Given the description of an element on the screen output the (x, y) to click on. 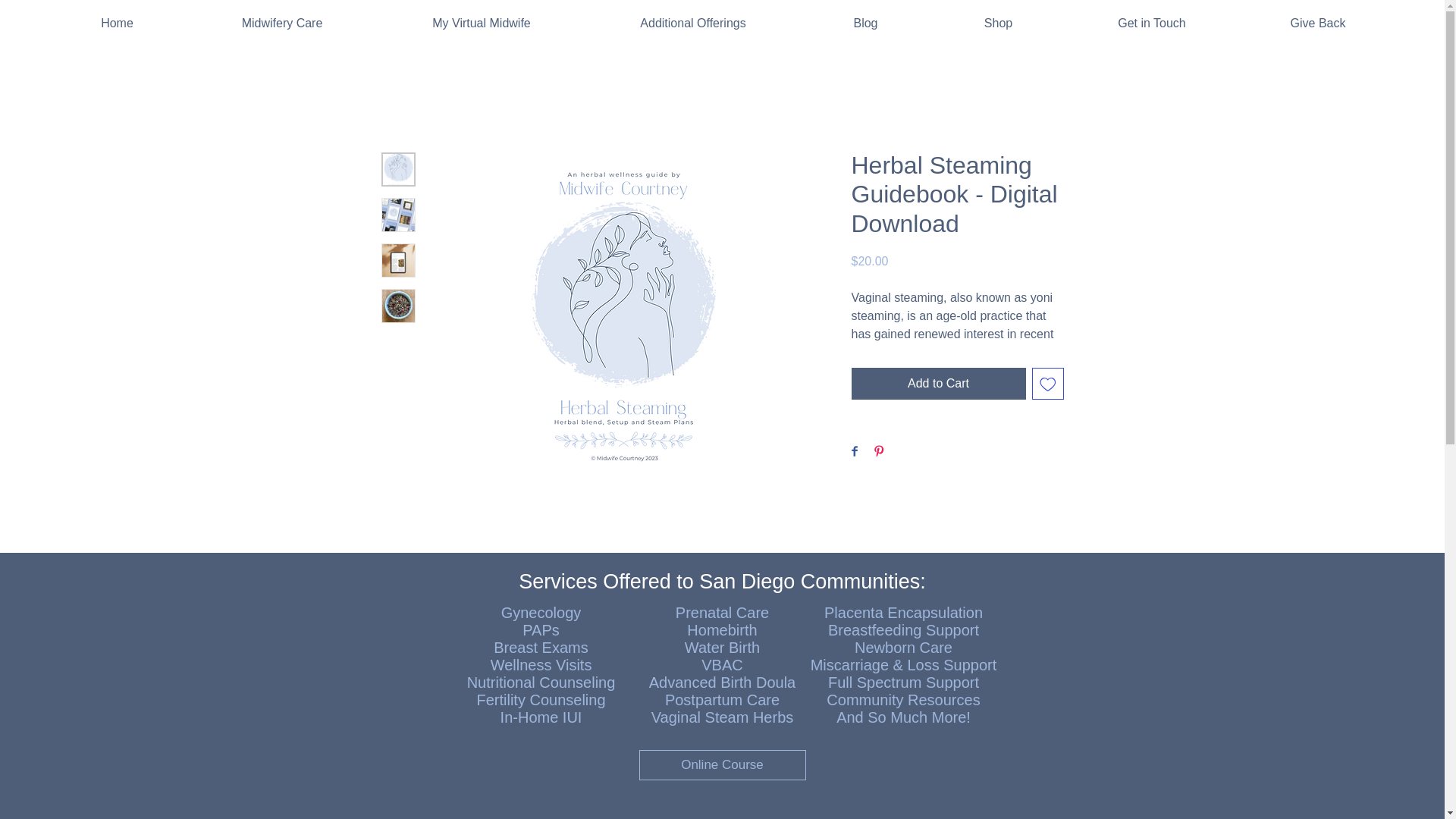
Gynecology (540, 612)
Nutritional Counseling (541, 682)
Additional Offerings (692, 23)
Get in Touch (1152, 23)
My Virtual Midwife (481, 23)
Add to Cart (937, 383)
Give Back (1318, 23)
Midwifery Care (282, 23)
VBAC (721, 664)
Prenatal Care (721, 612)
Vaginal Steam Herbs (721, 717)
Shop (998, 23)
Water Birth (722, 647)
Advanced Birth Doula (721, 682)
Blog (865, 23)
